Given the description of an element on the screen output the (x, y) to click on. 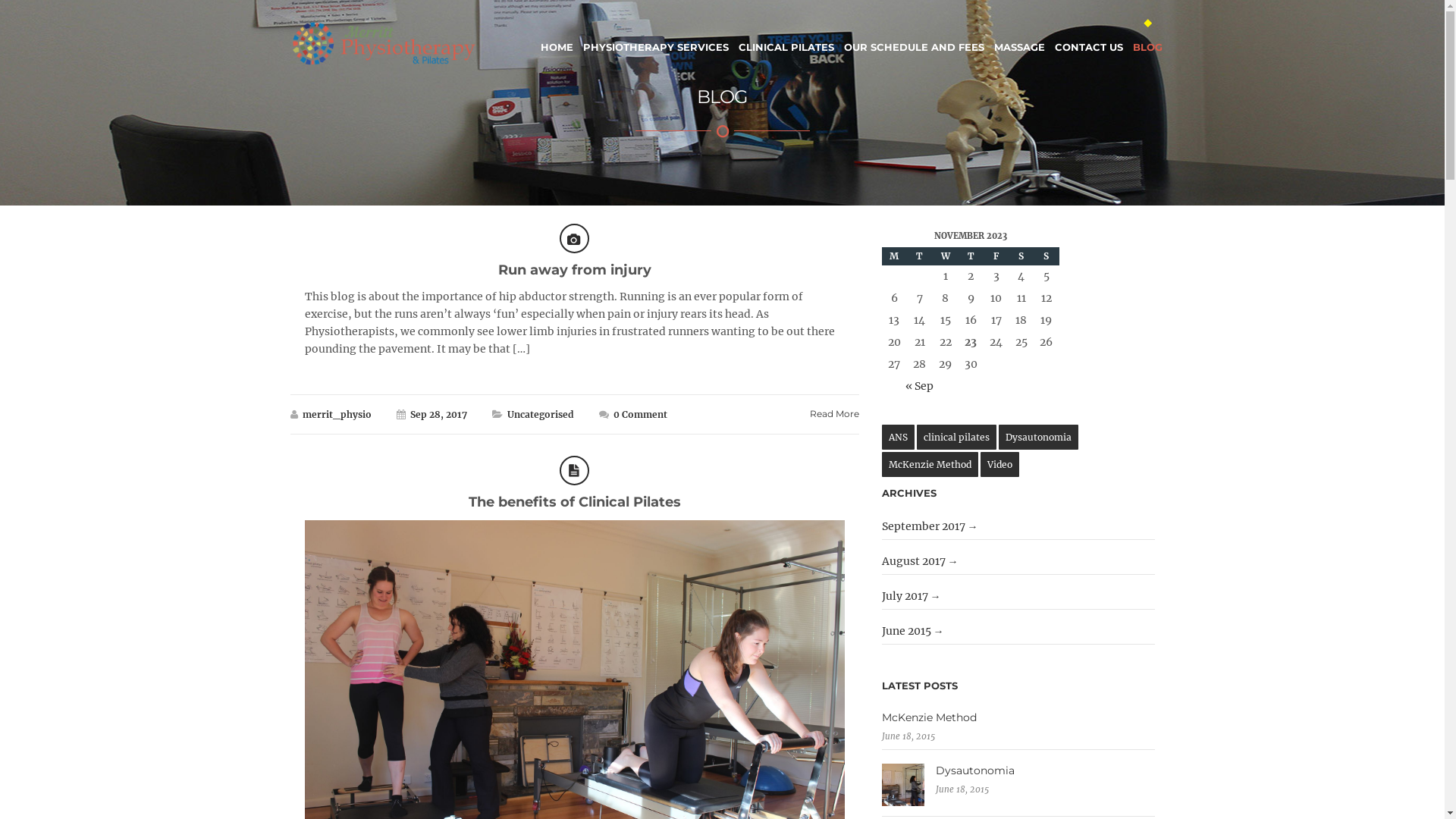
Video Element type: text (999, 464)
McKenzie Method Element type: text (929, 464)
Dysautonomia Element type: text (1017, 770)
OUR SCHEDULE AND FEES Element type: text (913, 37)
MASSAGE Element type: text (1018, 37)
McKenzie Method Element type: text (1017, 717)
September 2017 Element type: text (929, 526)
HOME Element type: text (555, 37)
0 Comment Element type: text (639, 414)
Merritt Physiotherapy & Pilates Element type: hover (383, 43)
ANS Element type: text (897, 436)
BLOG Element type: text (1147, 37)
Run away from injury Element type: text (573, 269)
clinical pilates Element type: text (956, 436)
PHYSIOTHERAPY SERVICES Element type: text (655, 37)
CLINICAL PILATES Element type: text (786, 37)
Dysautonomia Element type: text (1038, 436)
Uncategorised Element type: text (539, 414)
June 2015 Element type: text (912, 630)
CONTACT US Element type: text (1088, 37)
July 2017 Element type: text (911, 595)
August 2017 Element type: text (919, 560)
merrit_physio Element type: text (335, 414)
Read More Element type: text (834, 413)
The benefits of Clinical Pilates Element type: text (574, 501)
